Given the description of an element on the screen output the (x, y) to click on. 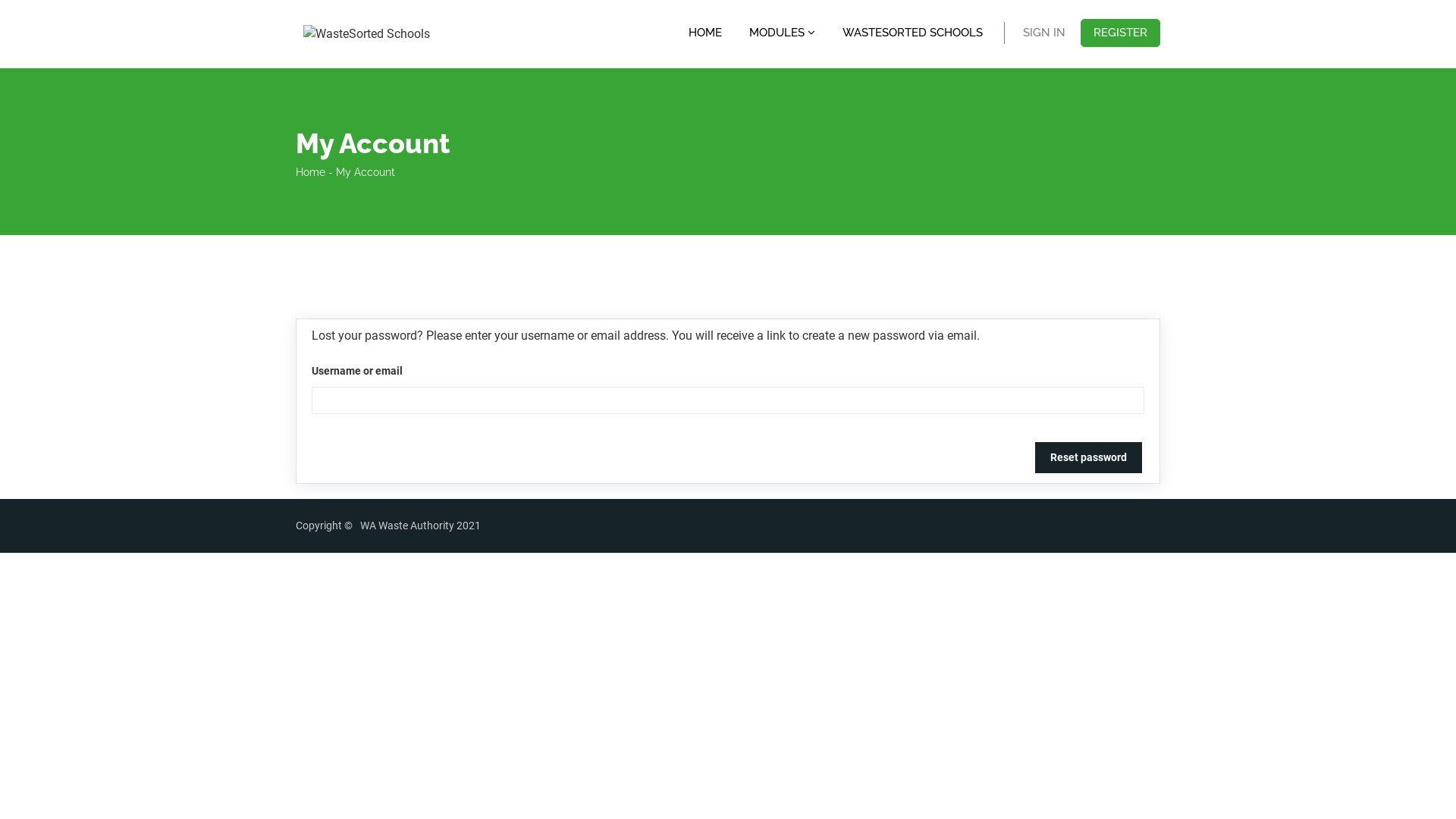
WA Waste Authority 2021 Element type: text (420, 525)
SIGN IN Element type: text (1044, 32)
WASTESORTED SCHOOLS Element type: text (912, 32)
MODULES Element type: text (782, 31)
Home Element type: text (310, 172)
HOME Element type: text (704, 32)
Reset password Element type: text (1088, 457)
REGISTER Element type: text (1120, 32)
